Given the description of an element on the screen output the (x, y) to click on. 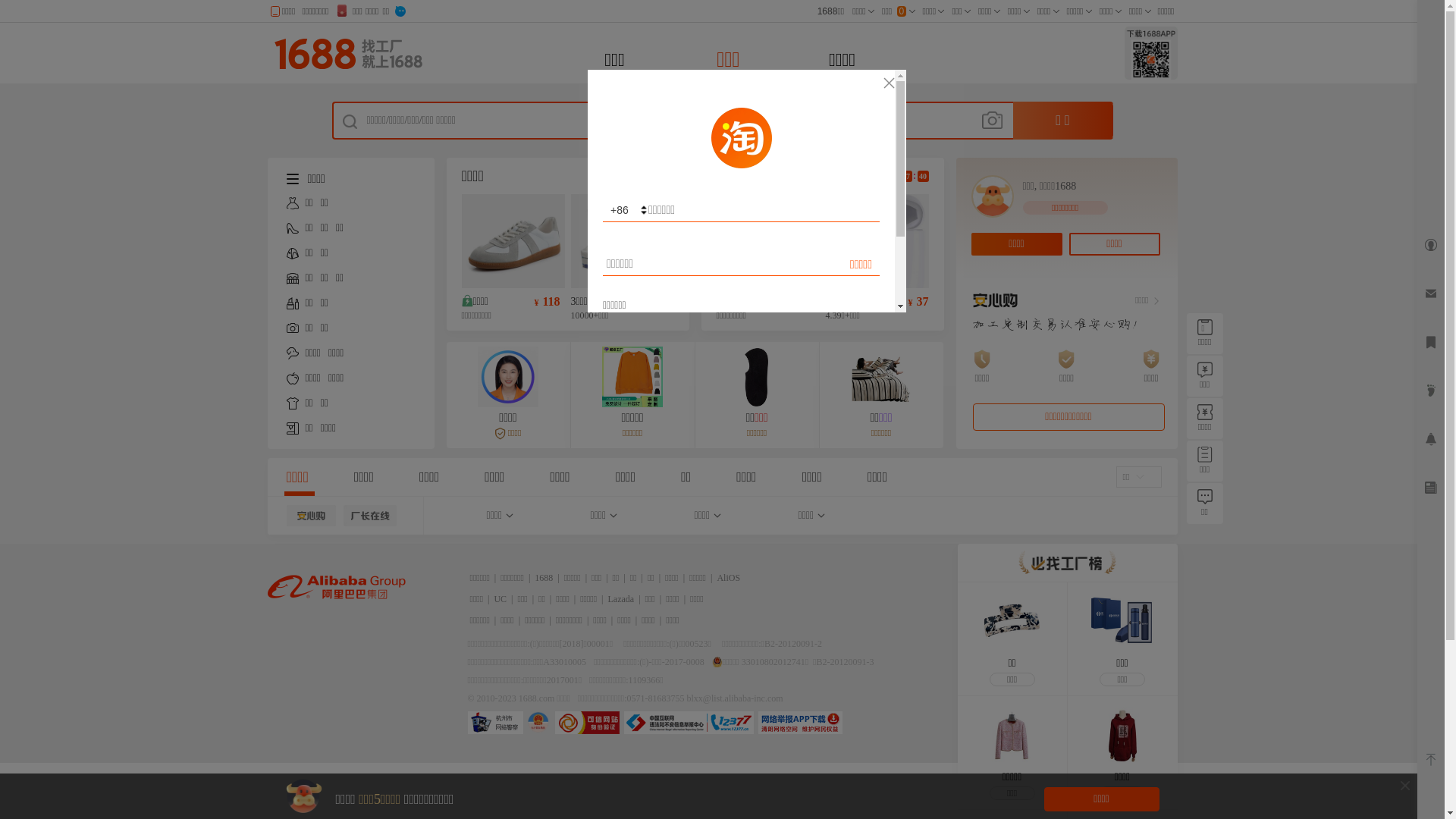
UC Element type: text (499, 598)
AliOS Element type: text (728, 577)
1688 Element type: text (543, 577)
Lazada Element type: text (621, 598)
